Given the description of an element on the screen output the (x, y) to click on. 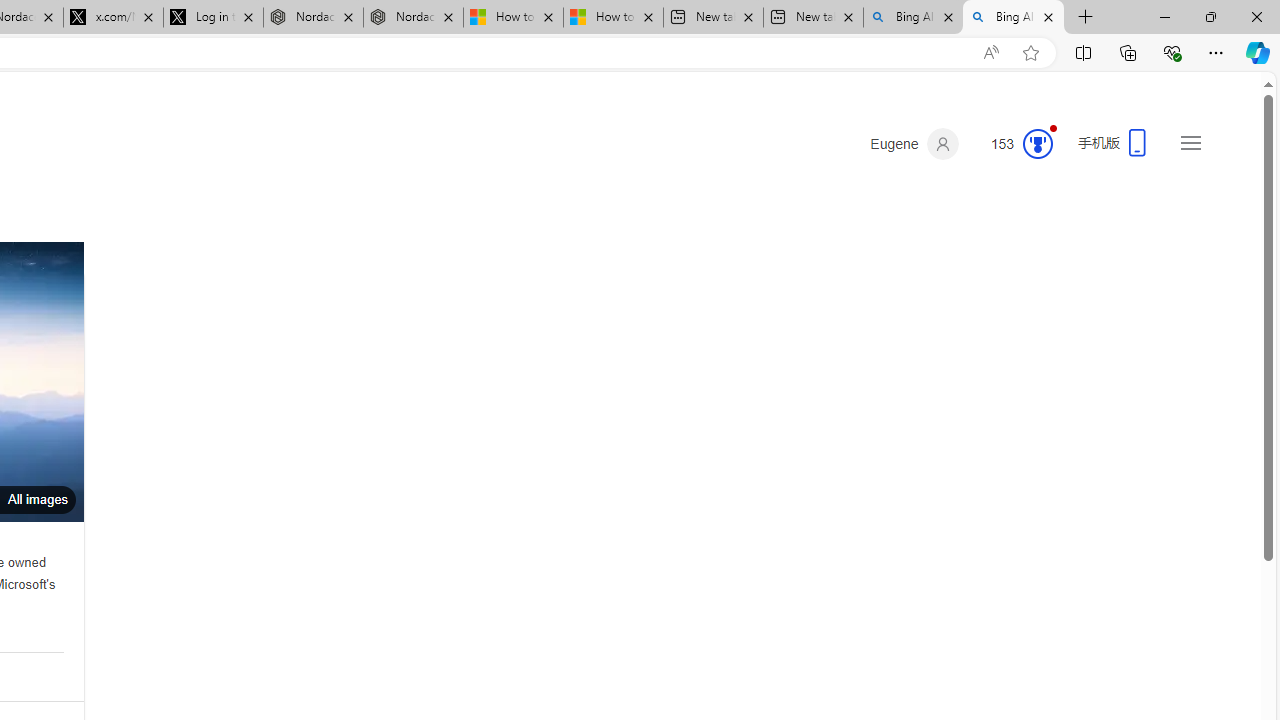
Class: medal-circled (1037, 143)
Settings and quick links (1190, 142)
Bing AI - Search (1013, 17)
Log in to X / X (212, 17)
